Given the description of an element on the screen output the (x, y) to click on. 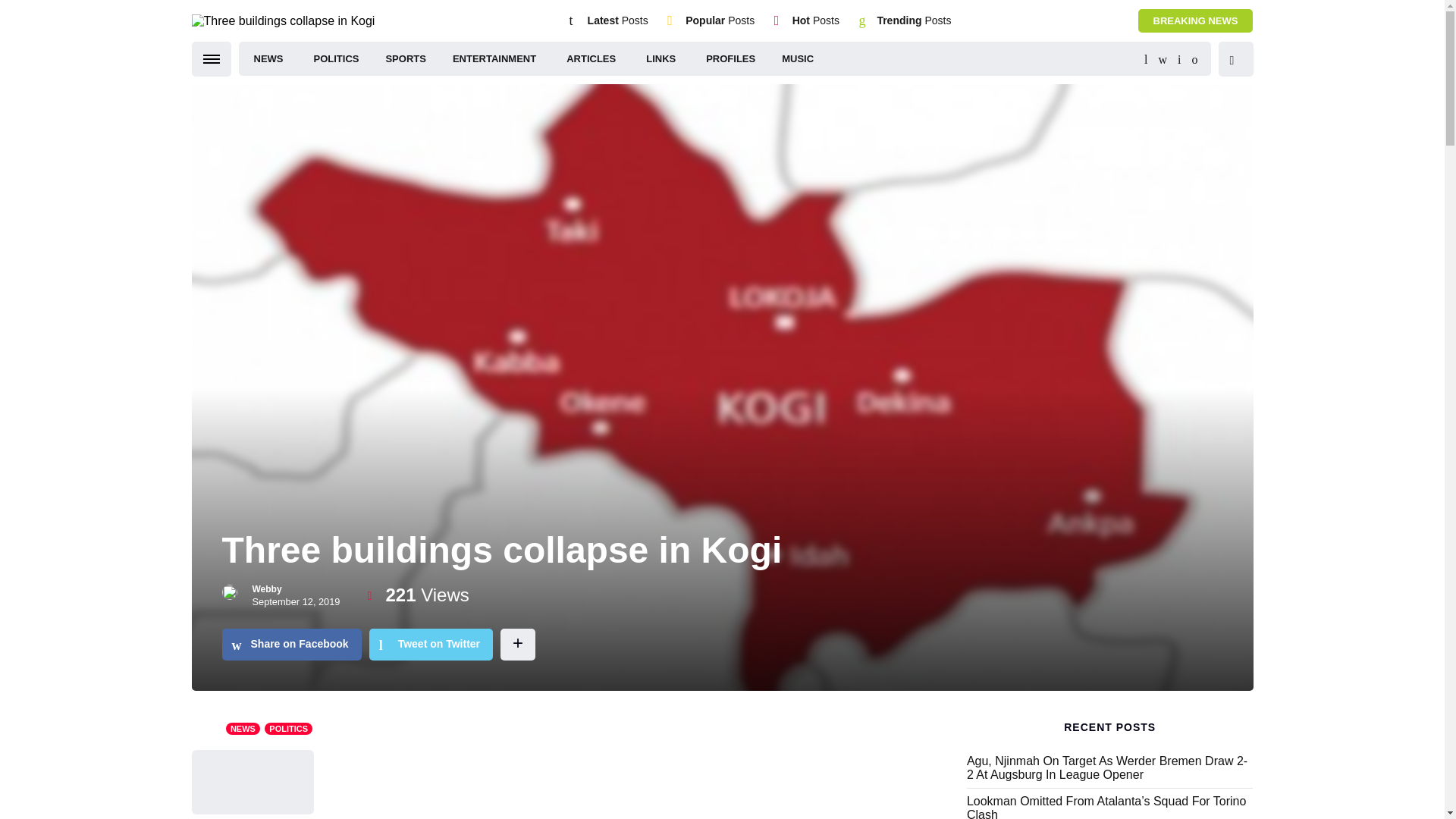
Latest Posts (617, 20)
BREAKING NEWS (1195, 20)
Trending Posts (913, 20)
Posts by Webby (266, 588)
Hot Posts (816, 20)
Popular Posts (719, 20)
